Given the description of an element on the screen output the (x, y) to click on. 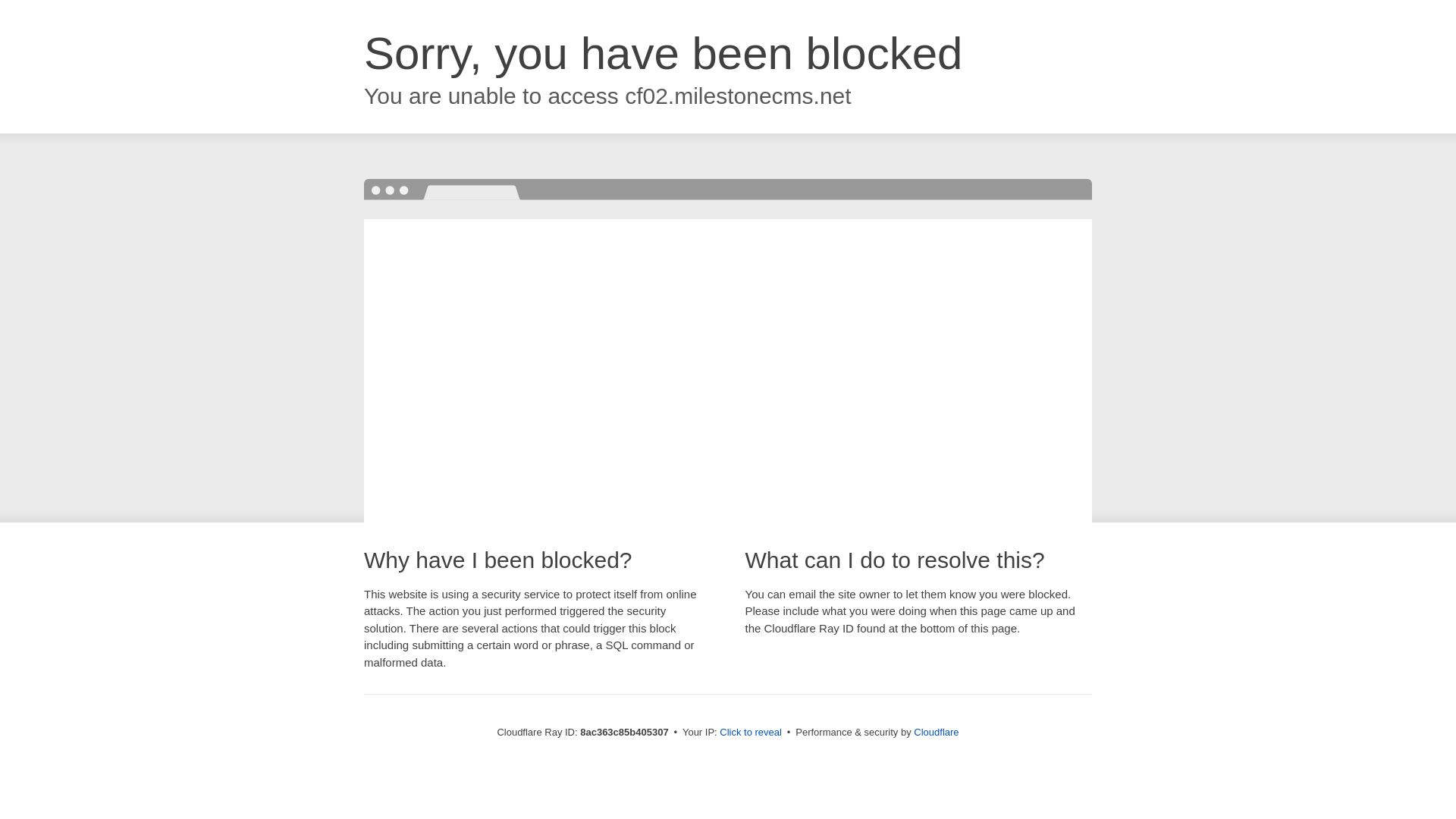
Click to reveal (750, 732)
Cloudflare (936, 731)
